Given the description of an element on the screen output the (x, y) to click on. 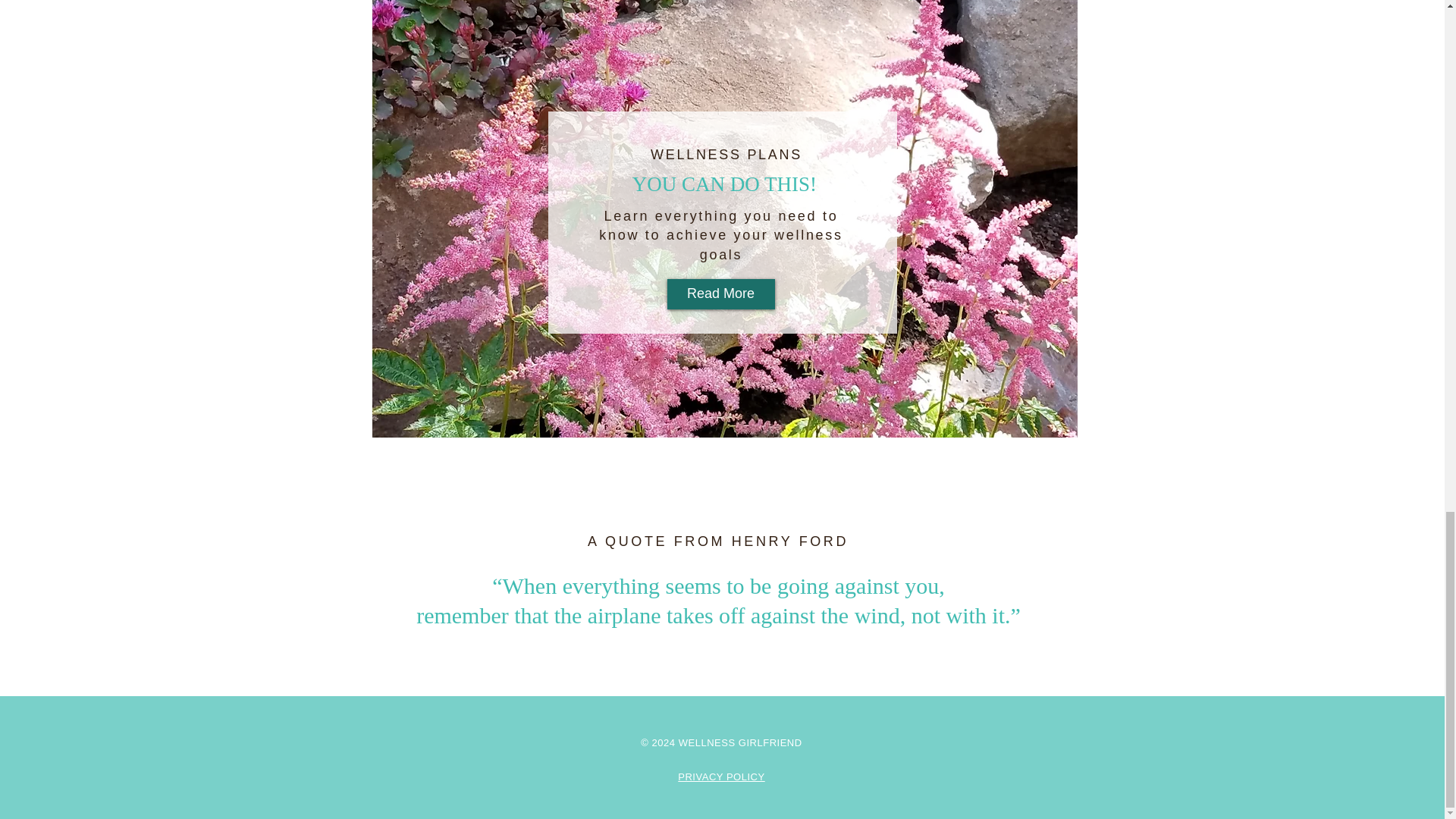
YOU CAN DO THIS! (725, 184)
PRIVACY POLICY (721, 776)
Read More (720, 294)
